Given the description of an element on the screen output the (x, y) to click on. 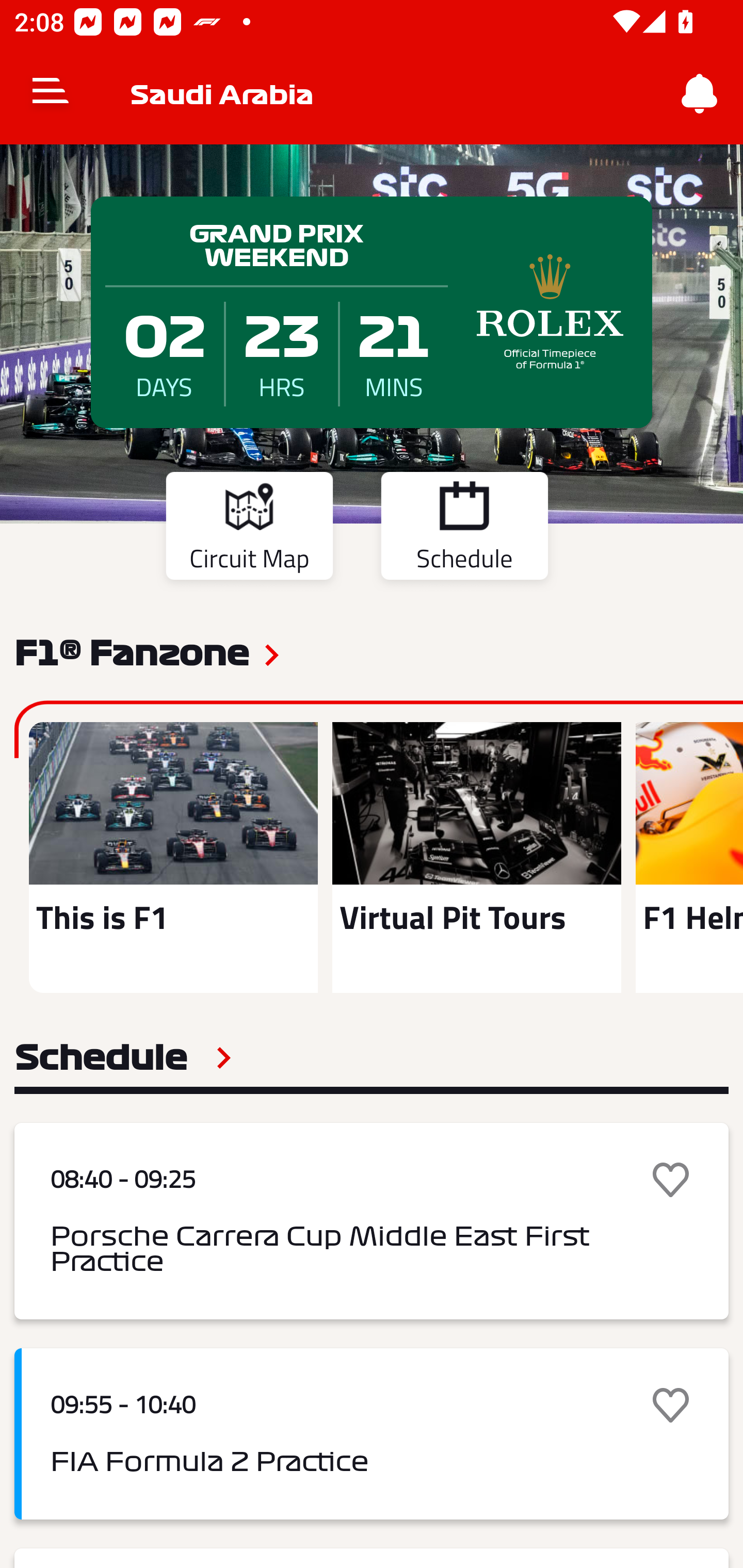
Navigate up (50, 93)
Notifications (699, 93)
Circuit Map (249, 528)
Schedule (464, 528)
F1® Fanzone (131, 651)
This is F1 (173, 857)
Virtual Pit Tours (476, 857)
Schedule (122, 1057)
09:55 - 10:40 FIA Formula 2 Practice (371, 1433)
